Given the description of an element on the screen output the (x, y) to click on. 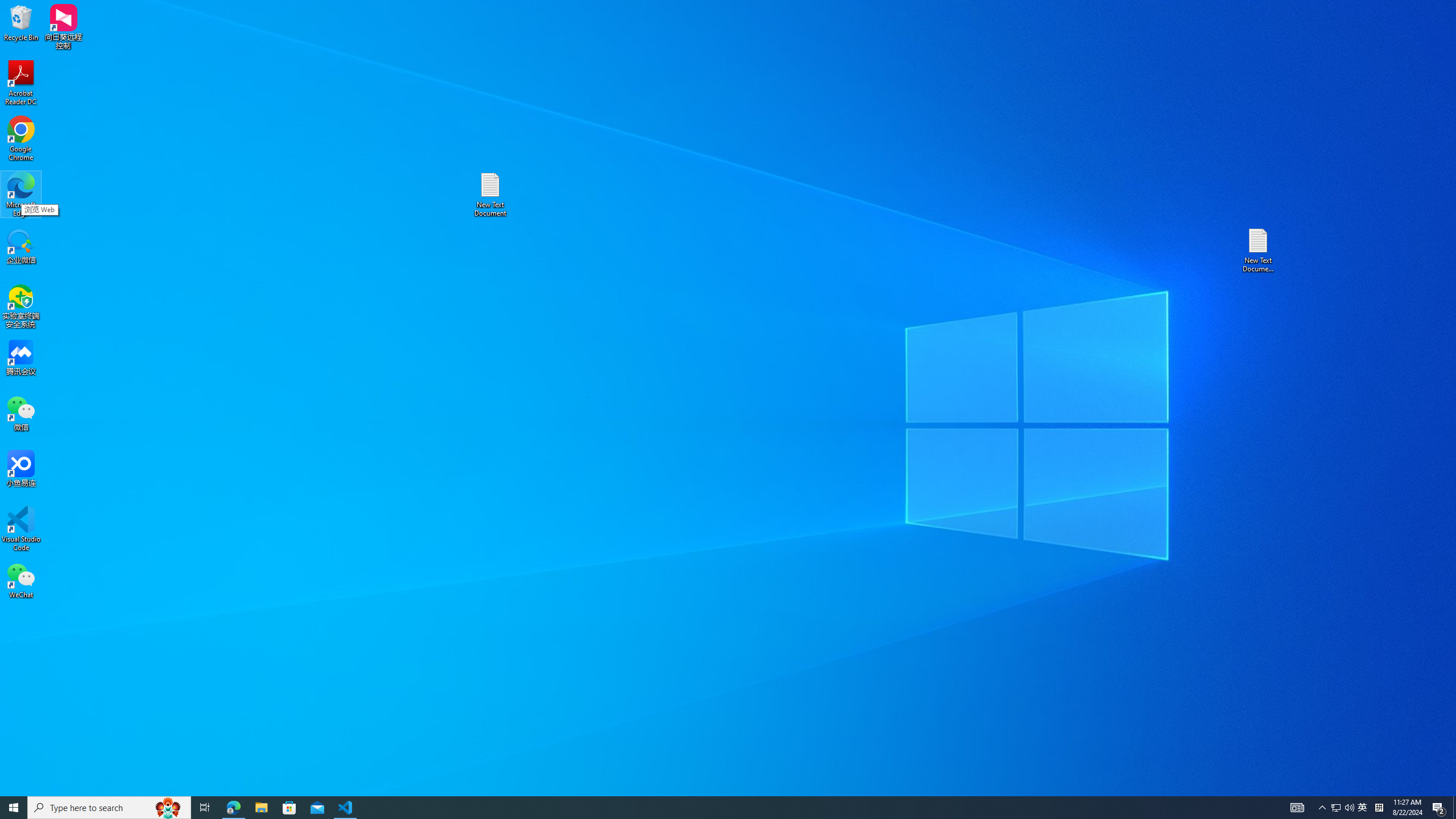
Action Center, 2 new notifications (1439, 807)
File Explorer (261, 807)
